Given the description of an element on the screen output the (x, y) to click on. 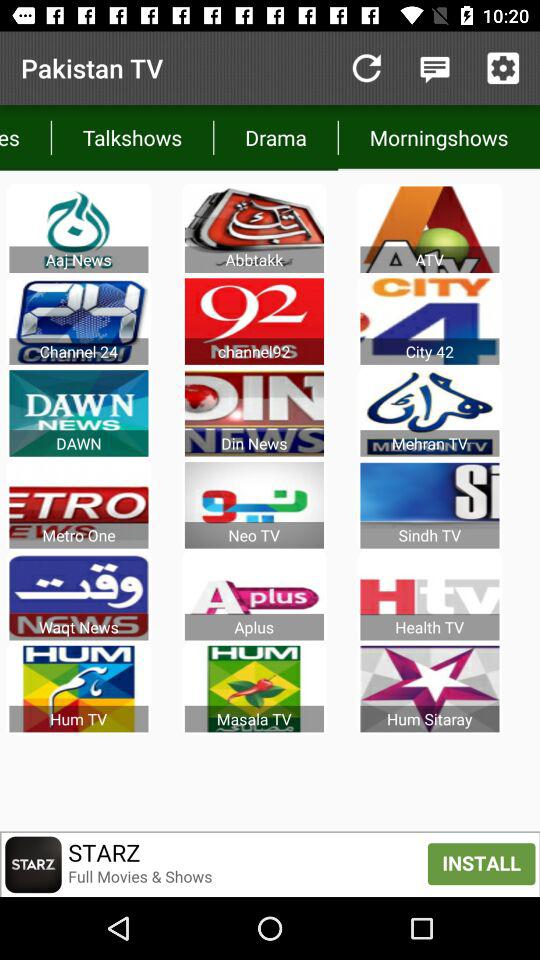
interact with advertisement (270, 864)
